Given the description of an element on the screen output the (x, y) to click on. 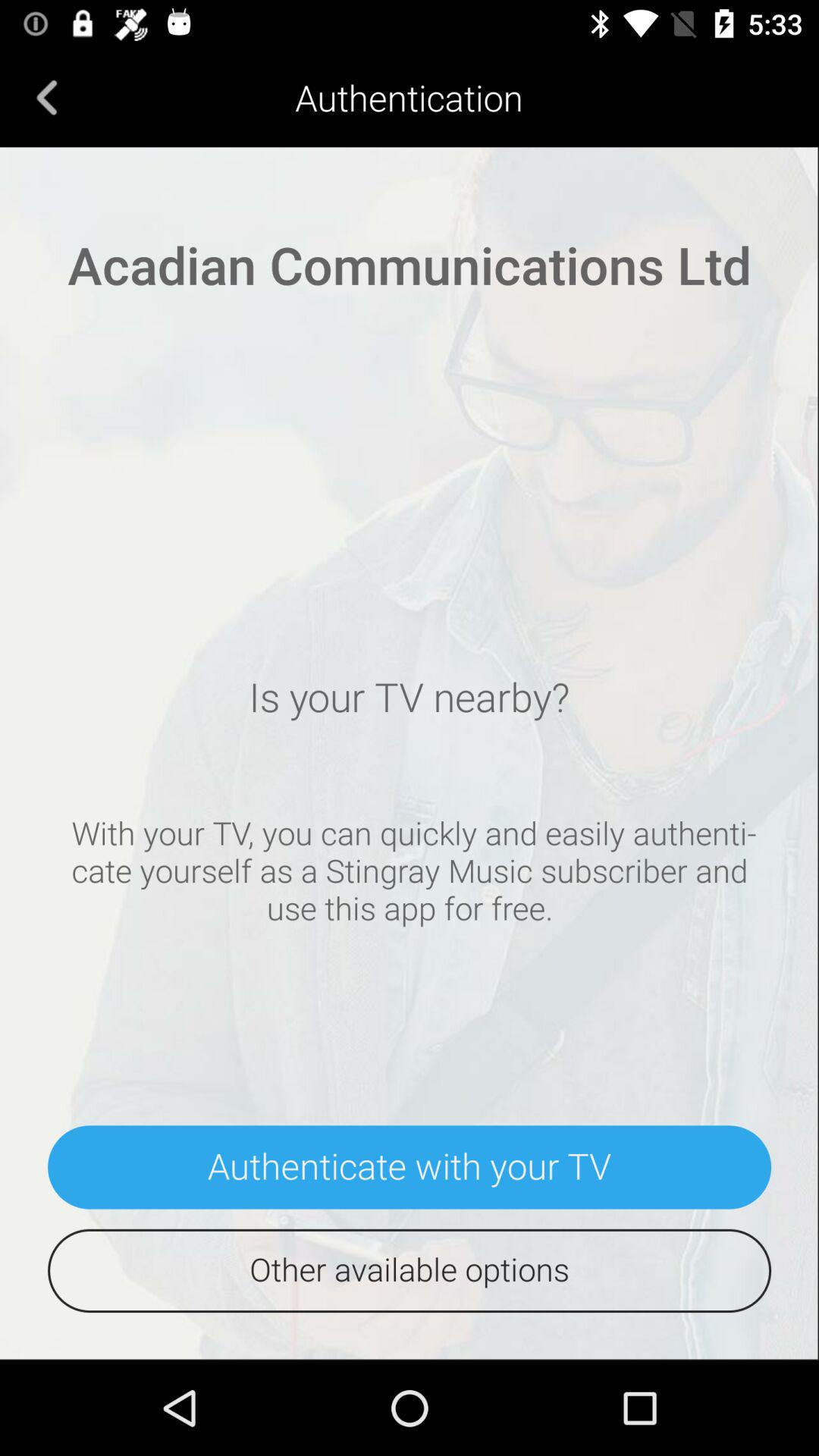
turn off the other available options icon (409, 1270)
